Given the description of an element on the screen output the (x, y) to click on. 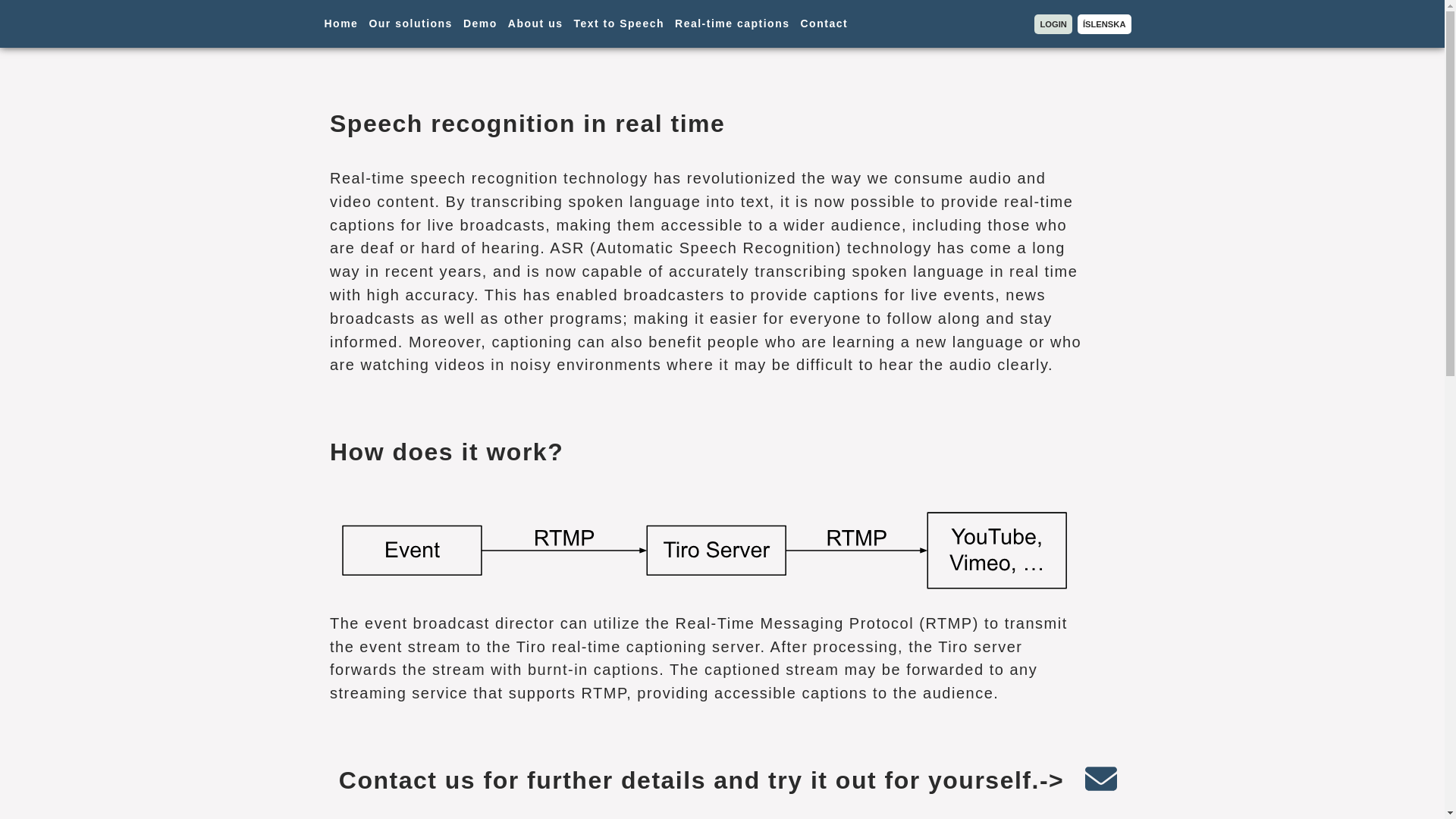
Text to Speech (618, 23)
Demo (480, 23)
About us (535, 23)
Contact (824, 23)
Our solutions (410, 23)
LOGIN (1052, 23)
Home (341, 23)
Real-time captions (732, 23)
